Given the description of an element on the screen output the (x, y) to click on. 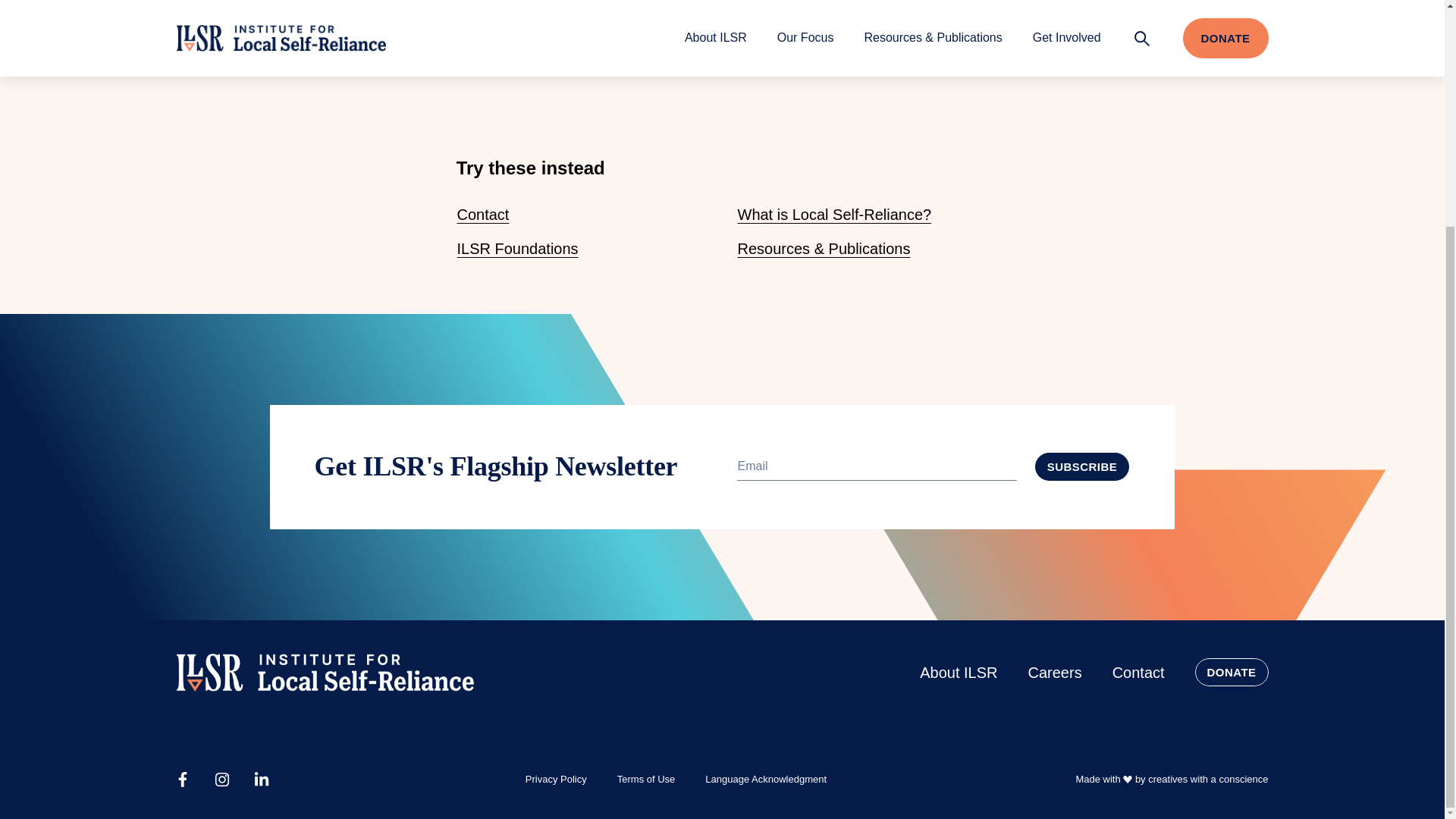
Contact (482, 214)
ILSR Foundations (517, 248)
SUBSCRIBE (1082, 466)
What is Local Self-Reliance? (833, 214)
